Given the description of an element on the screen output the (x, y) to click on. 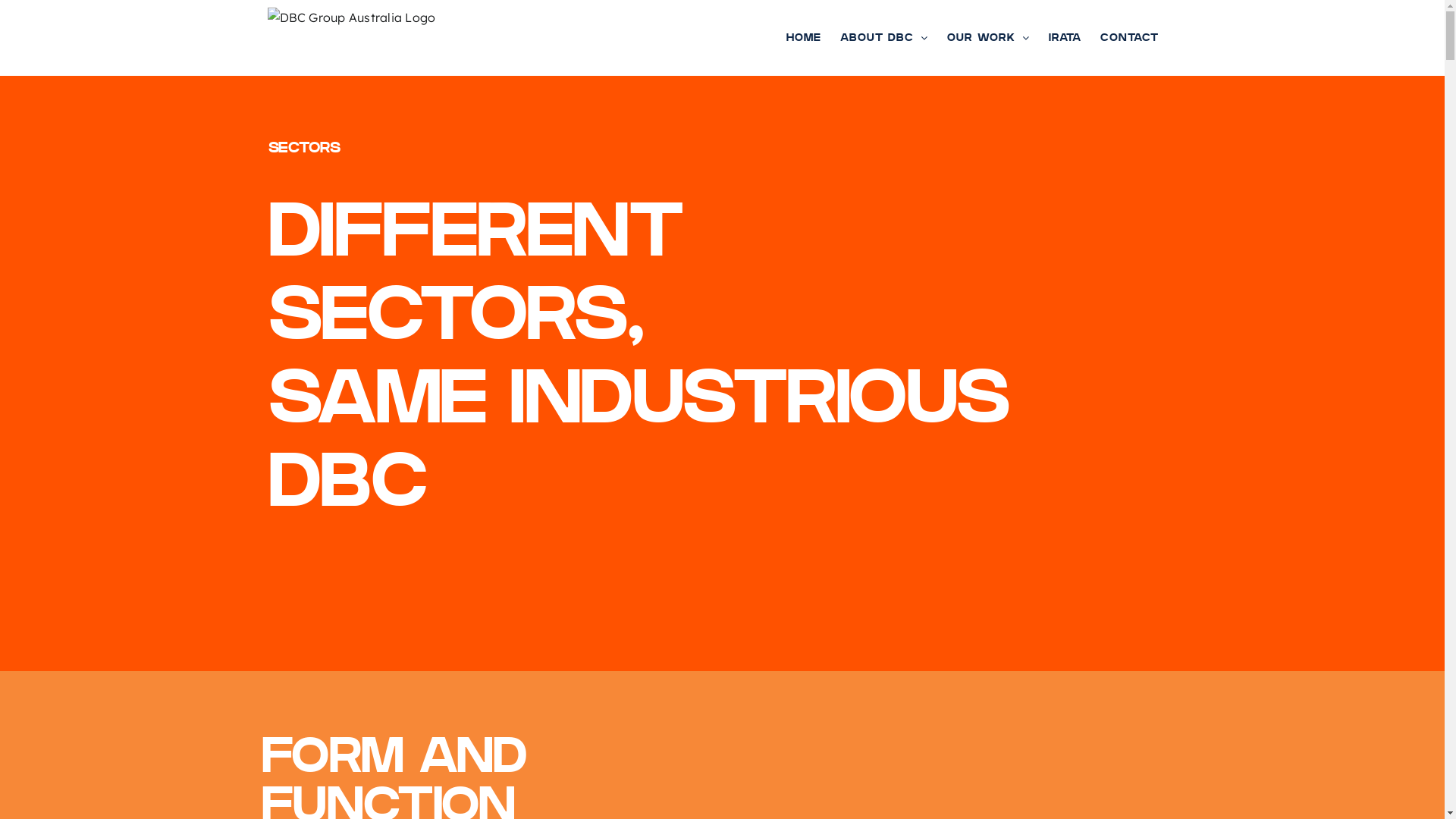
ABOUT DBC Element type: text (884, 37)
IRATA Element type: text (1064, 37)
CONTACT Element type: text (1128, 37)
HOME Element type: text (802, 37)
OUR WORK Element type: text (987, 37)
